Given the description of an element on the screen output the (x, y) to click on. 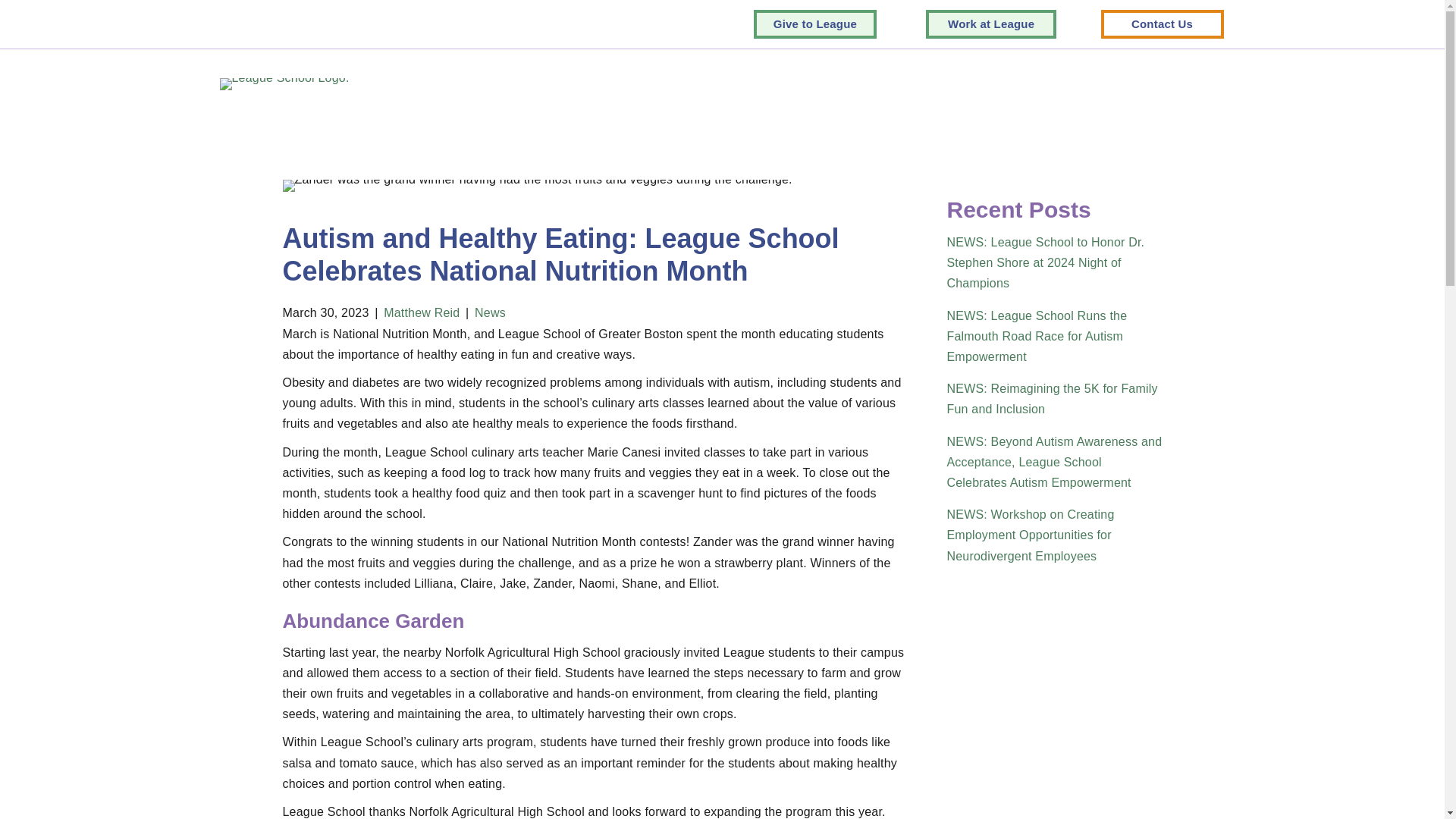
nutrition winners 1 (537, 185)
About (614, 84)
Contact Us (1162, 23)
Programs (697, 84)
Matthew Reid (422, 312)
School Happenings (1162, 84)
Admissions (797, 84)
Work at League (991, 23)
Support League (918, 84)
Give to League (815, 23)
